Given the description of an element on the screen output the (x, y) to click on. 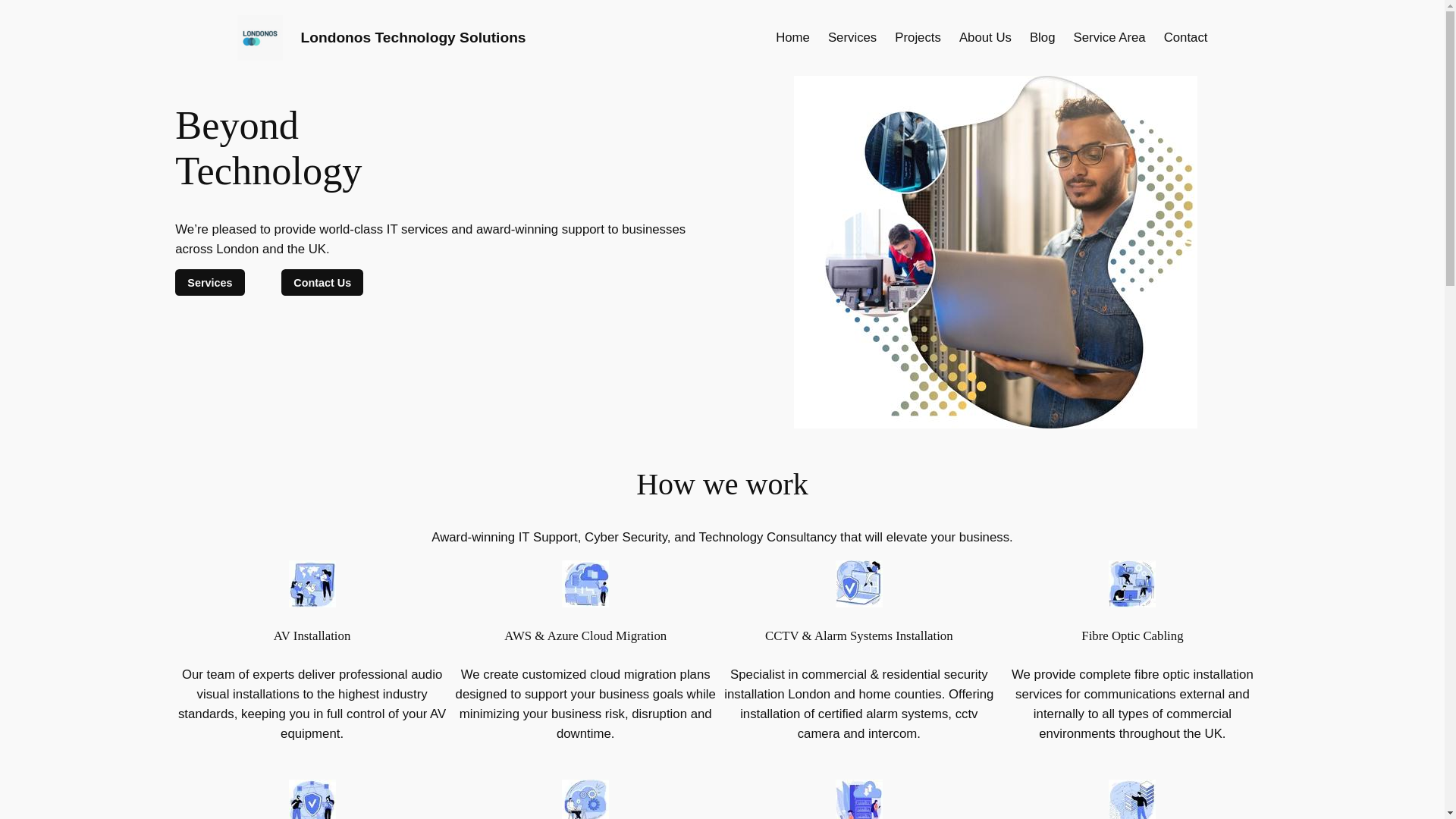
Projects (917, 37)
Services (852, 37)
Londonos Technology Solutions (412, 37)
Services (209, 282)
Service Area (1109, 37)
Blog (1042, 37)
Home (792, 37)
Contact (1185, 37)
About Us (985, 37)
Contact Us (321, 282)
